Given the description of an element on the screen output the (x, y) to click on. 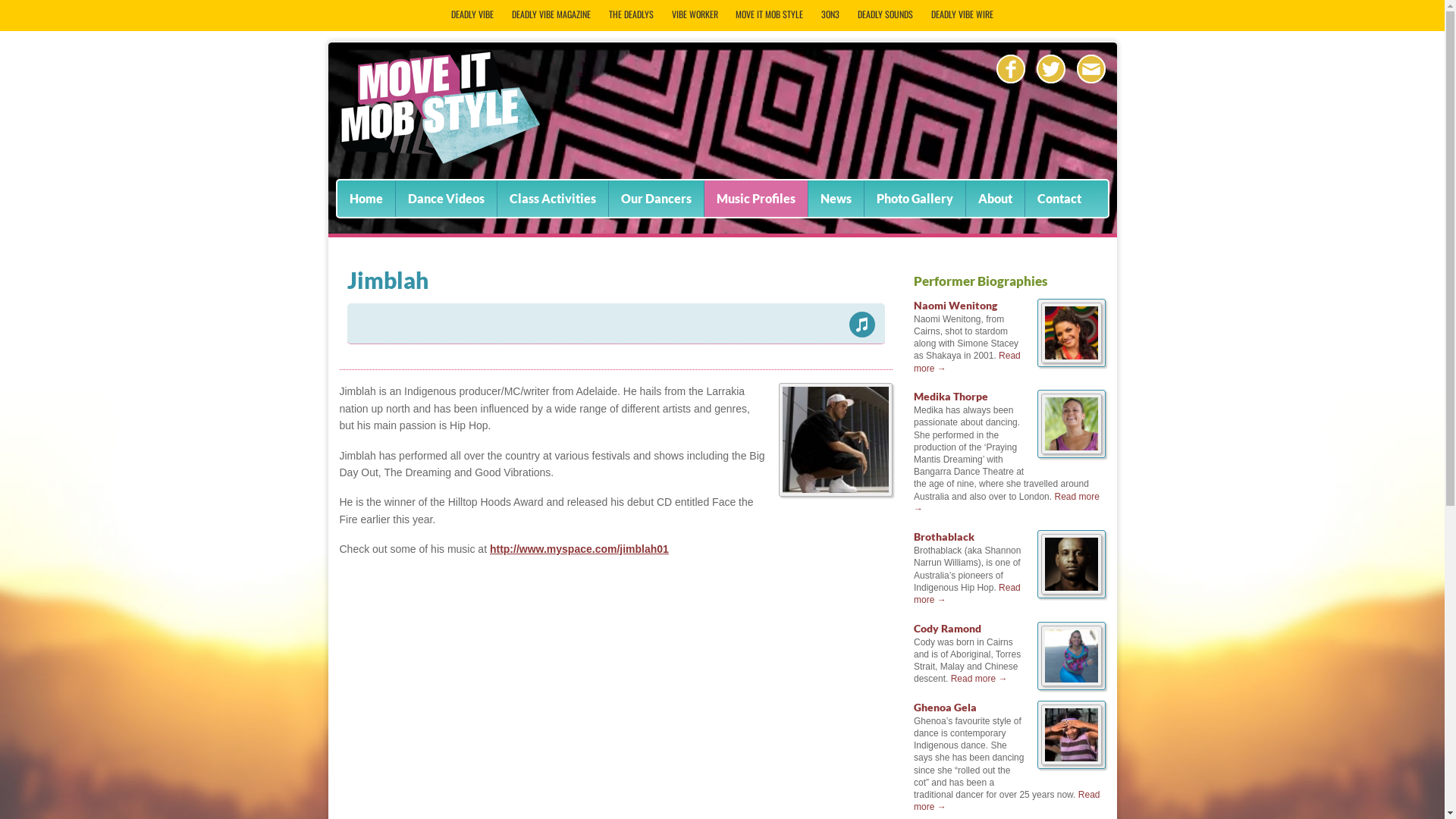
Our Dancers Element type: text (655, 198)
Ghenoa Gela Element type: text (944, 706)
Naomi Wenitong Element type: text (955, 304)
Photo Gallery Element type: text (914, 198)
About Element type: text (995, 198)
Class Activities Element type: text (552, 198)
http://www.myspace.com/jimblah01 Element type: text (578, 548)
Music Profiles Element type: text (754, 198)
Medika Thorpe Element type: text (950, 395)
Contact Element type: text (1059, 198)
Home Element type: text (365, 198)
Dance Videos Element type: text (445, 198)
Cody Ramond Element type: text (947, 627)
Move it Mob Style Element type: hover (439, 106)
News Element type: text (835, 198)
Medika Thorpe Element type: hover (1070, 457)
Ghenoa Gela Element type: hover (1070, 768)
Brothablack Element type: text (943, 536)
Cody Ramond Element type: hover (1070, 690)
Brothablack Element type: hover (1070, 598)
Naomi Wenitong Element type: hover (1070, 366)
Performer Biographies Element type: text (980, 280)
